Given the description of an element on the screen output the (x, y) to click on. 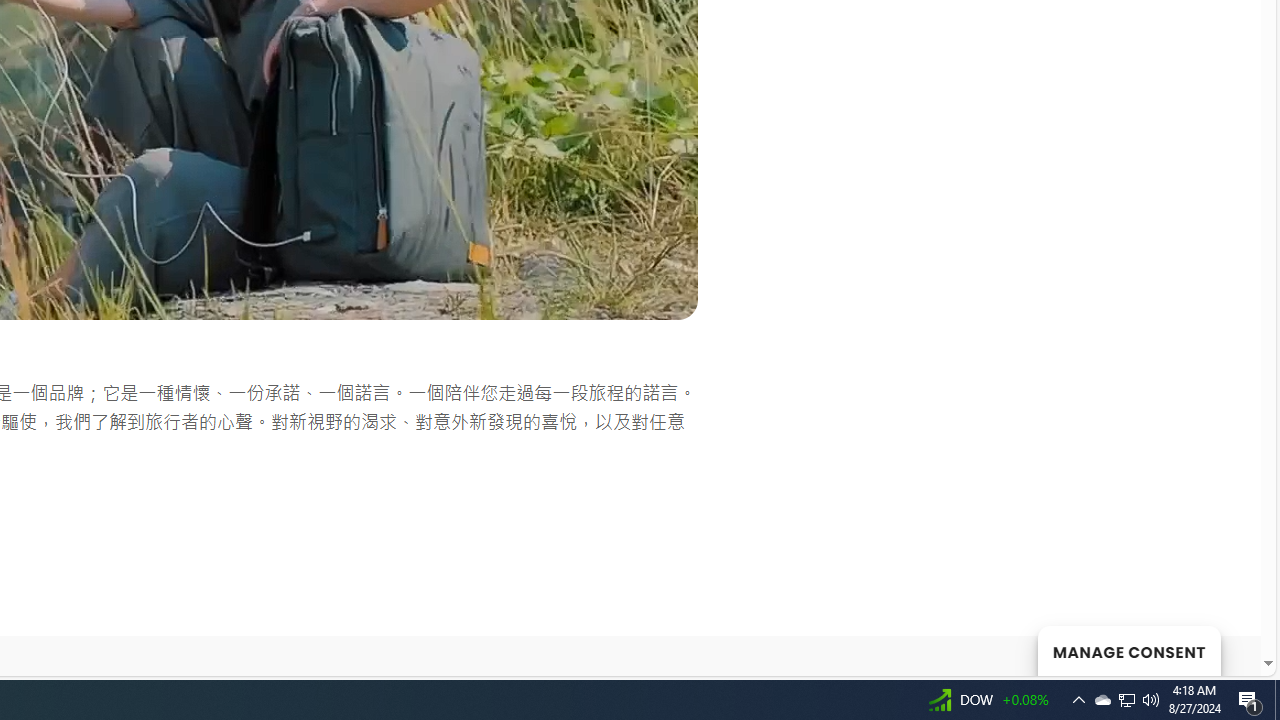
MANAGE CONSENT (1128, 650)
